Given the description of an element on the screen output the (x, y) to click on. 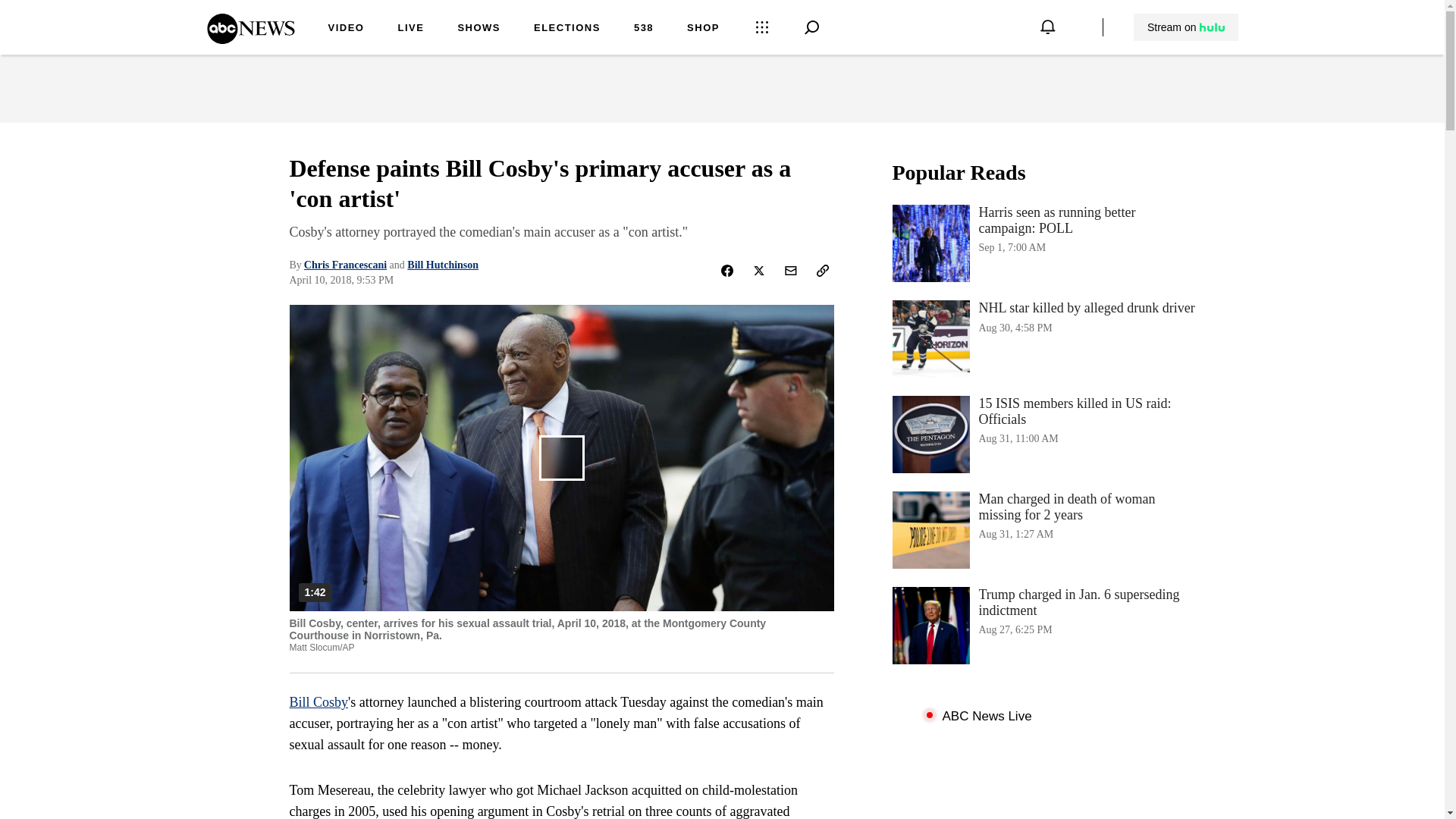
538 (643, 28)
SHOWS (478, 28)
Stream on (1185, 27)
Bill Cosby (319, 702)
ABC News (250, 38)
SHOP (1043, 242)
VIDEO (703, 28)
Bill Hutchinson (345, 28)
